Given the description of an element on the screen output the (x, y) to click on. 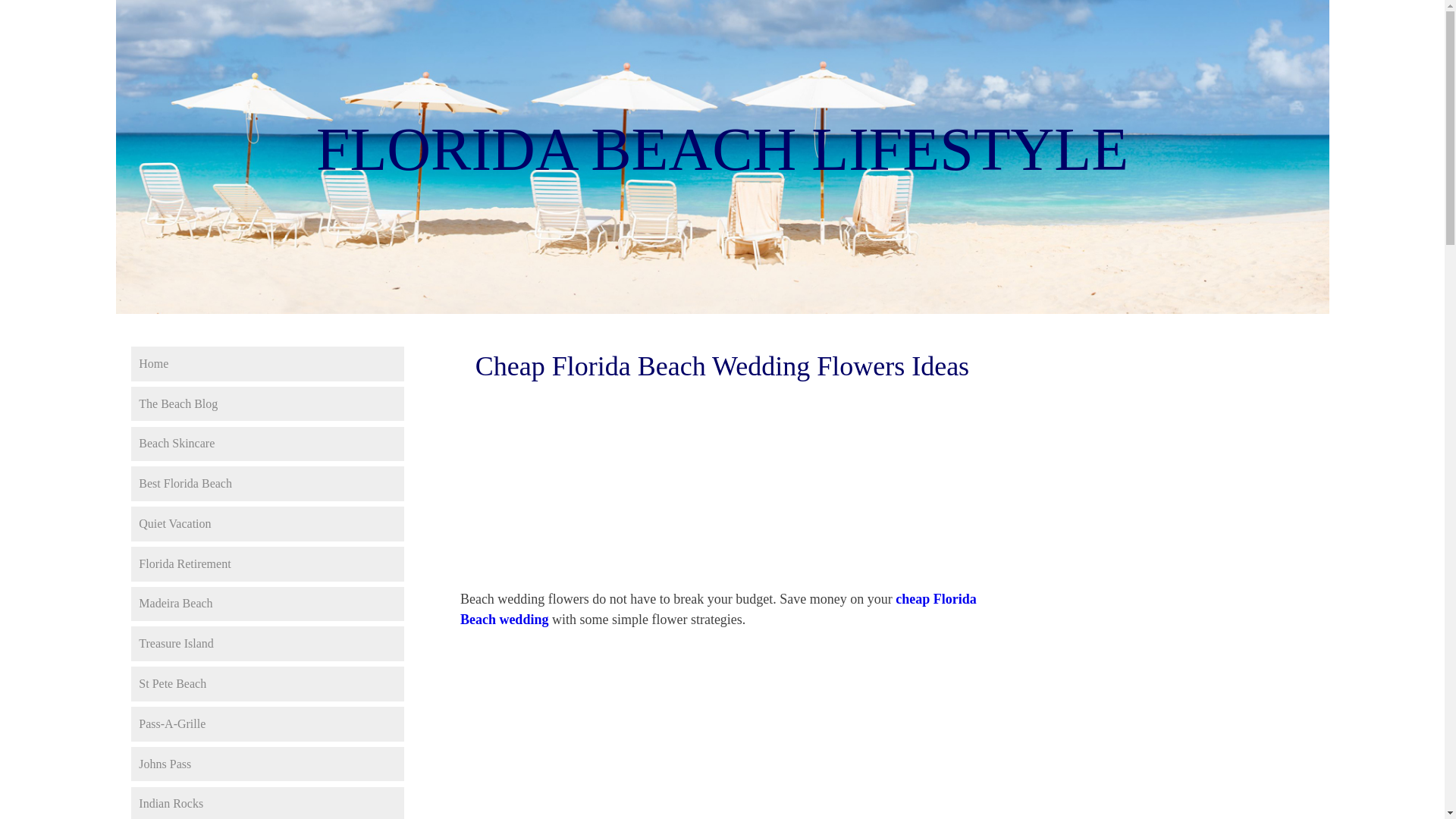
Home (267, 363)
Madeira Beach (267, 604)
Pass-A-Grille (267, 724)
Johns Pass (267, 764)
The Beach Blog (267, 403)
Advertisement (721, 755)
Florida Retirement (267, 564)
St Pete Beach (267, 683)
Treasure Island (267, 643)
Indian Rocks (267, 803)
